Given the description of an element on the screen output the (x, y) to click on. 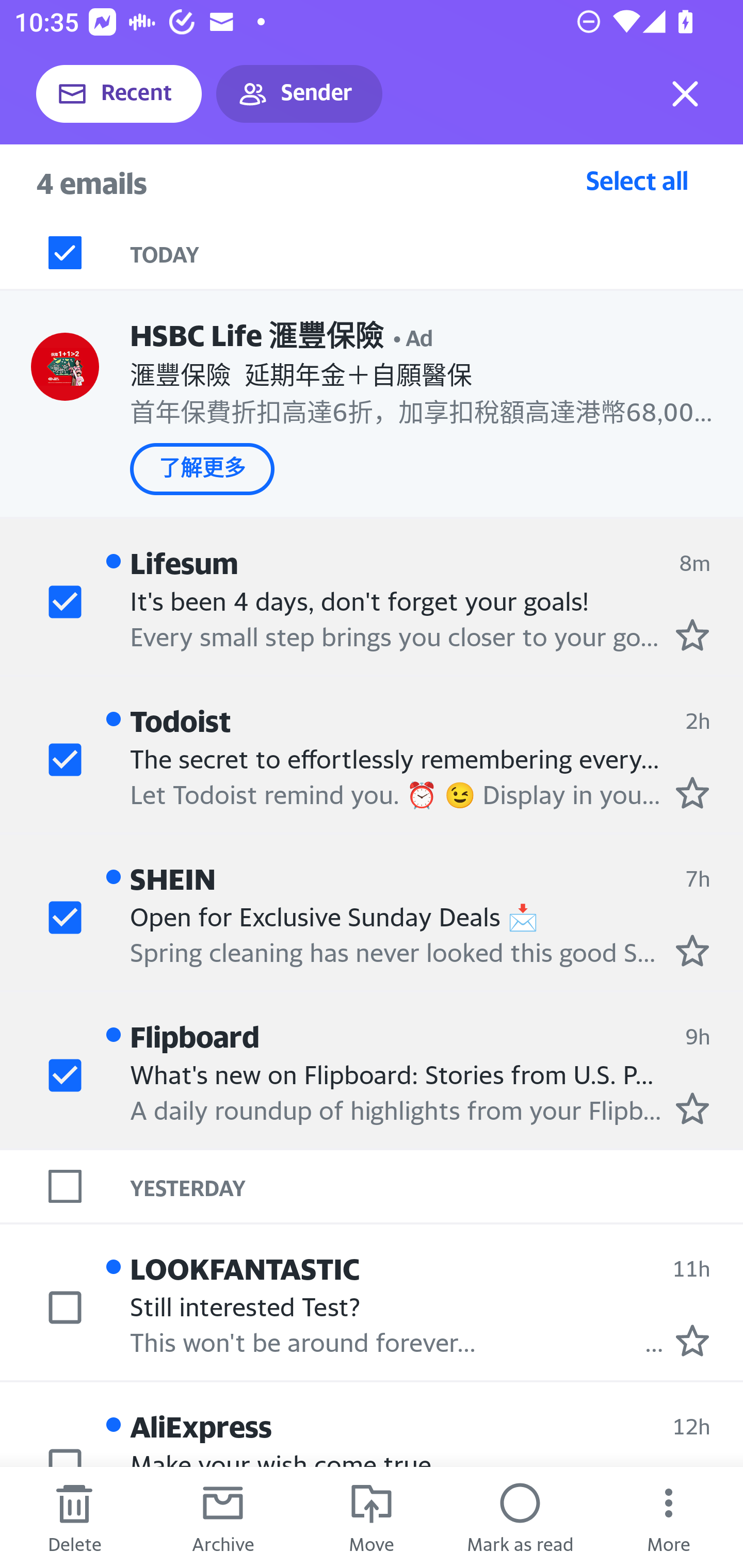
Sender (299, 93)
Exit selection mode (684, 93)
Select all (637, 180)
TODAY (436, 252)
Mark as starred. (692, 634)
Mark as starred. (692, 792)
Mark as starred. (692, 950)
Mark as starred. (692, 1107)
YESTERDAY (436, 1185)
Mark as starred. (692, 1339)
Delete (74, 1517)
Archive (222, 1517)
Move (371, 1517)
Mark as read (519, 1517)
More (668, 1517)
